Given the description of an element on the screen output the (x, y) to click on. 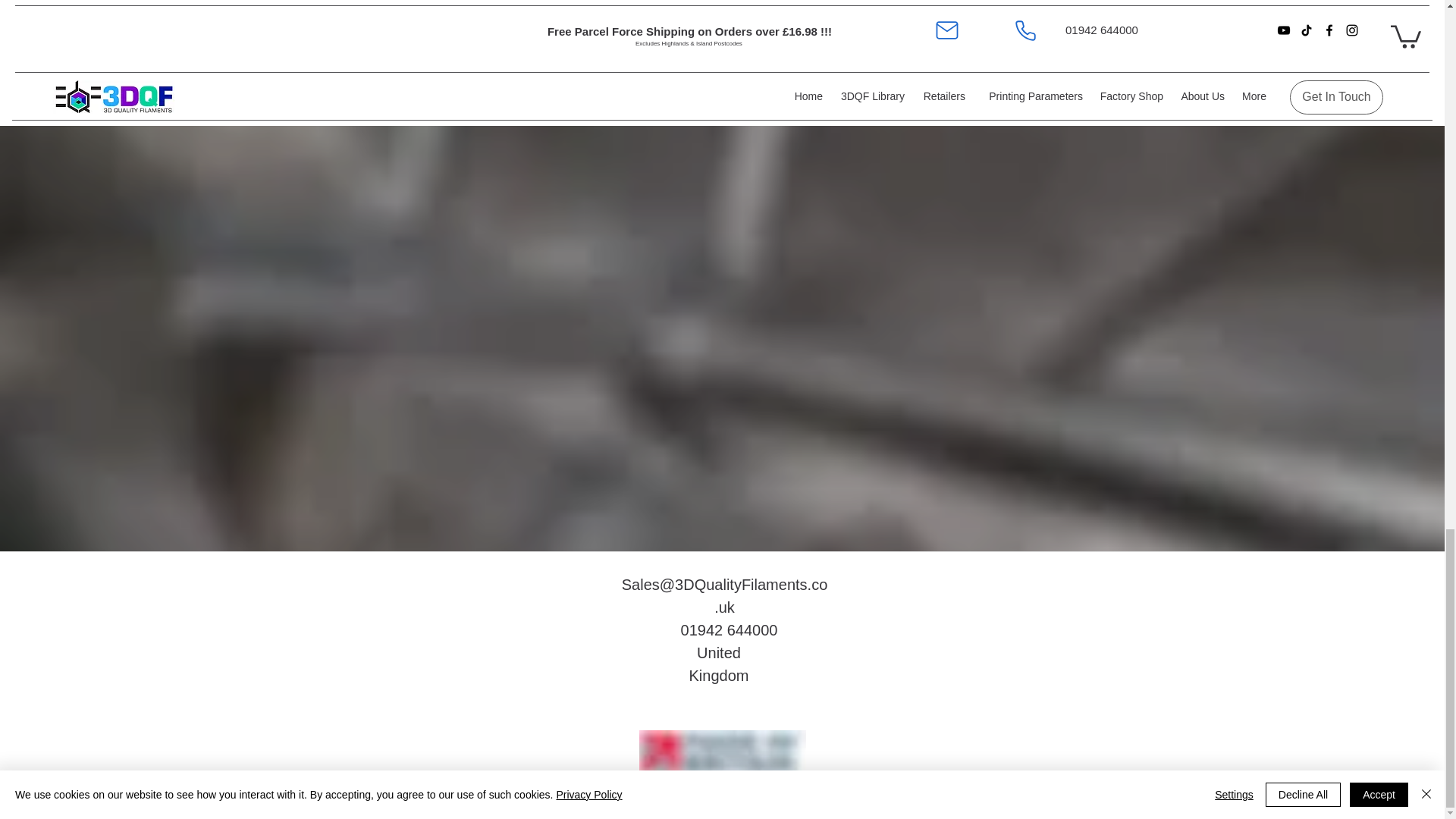
MIB.jpg (722, 751)
